Given the description of an element on the screen output the (x, y) to click on. 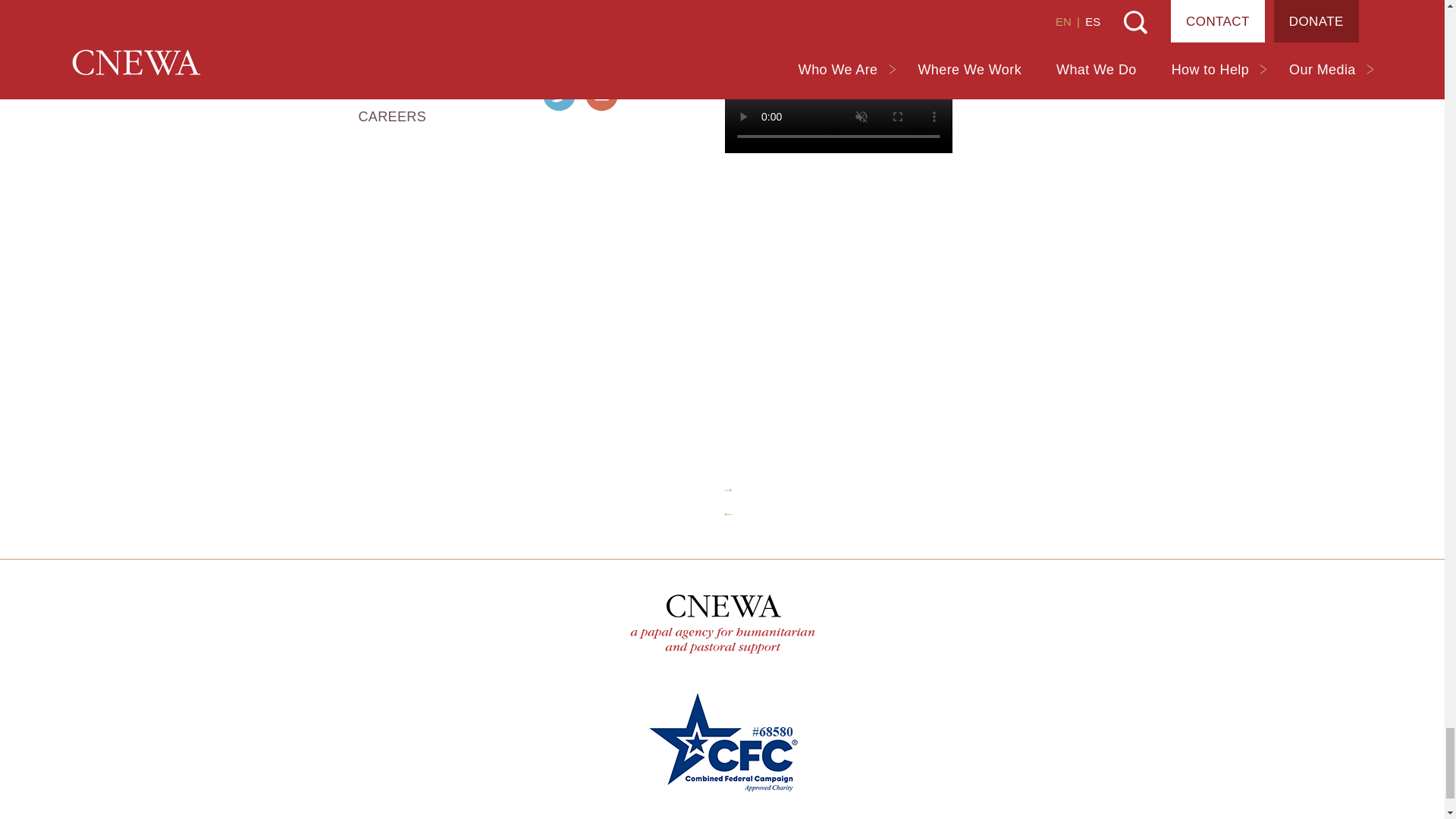
Visit CNEWA on Facebook (559, 49)
Visit CNEWA on Twitter (559, 94)
Visit CNEWA on Instgram (602, 49)
Visit CNEWA on YouTube (602, 94)
